Given the description of an element on the screen output the (x, y) to click on. 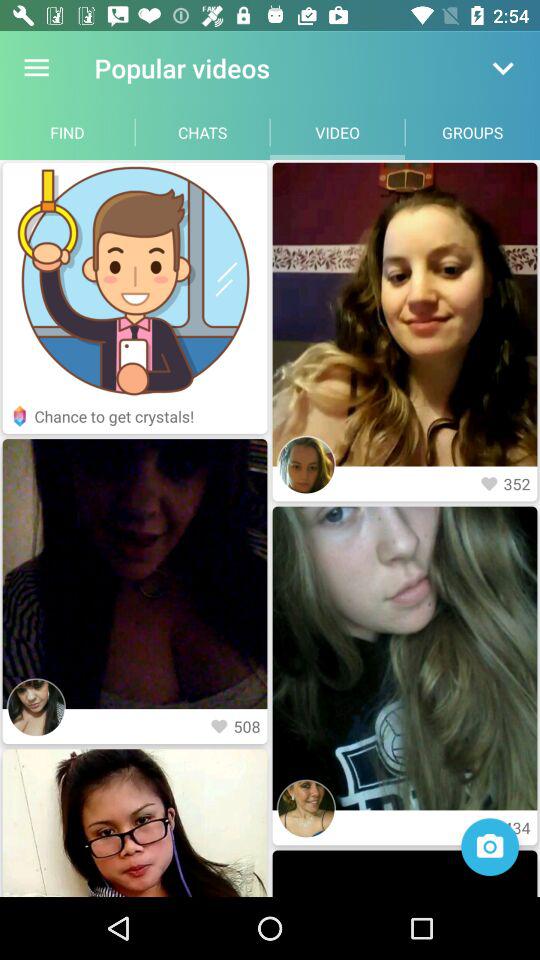
open the chats icon (202, 132)
